Given the description of an element on the screen output the (x, y) to click on. 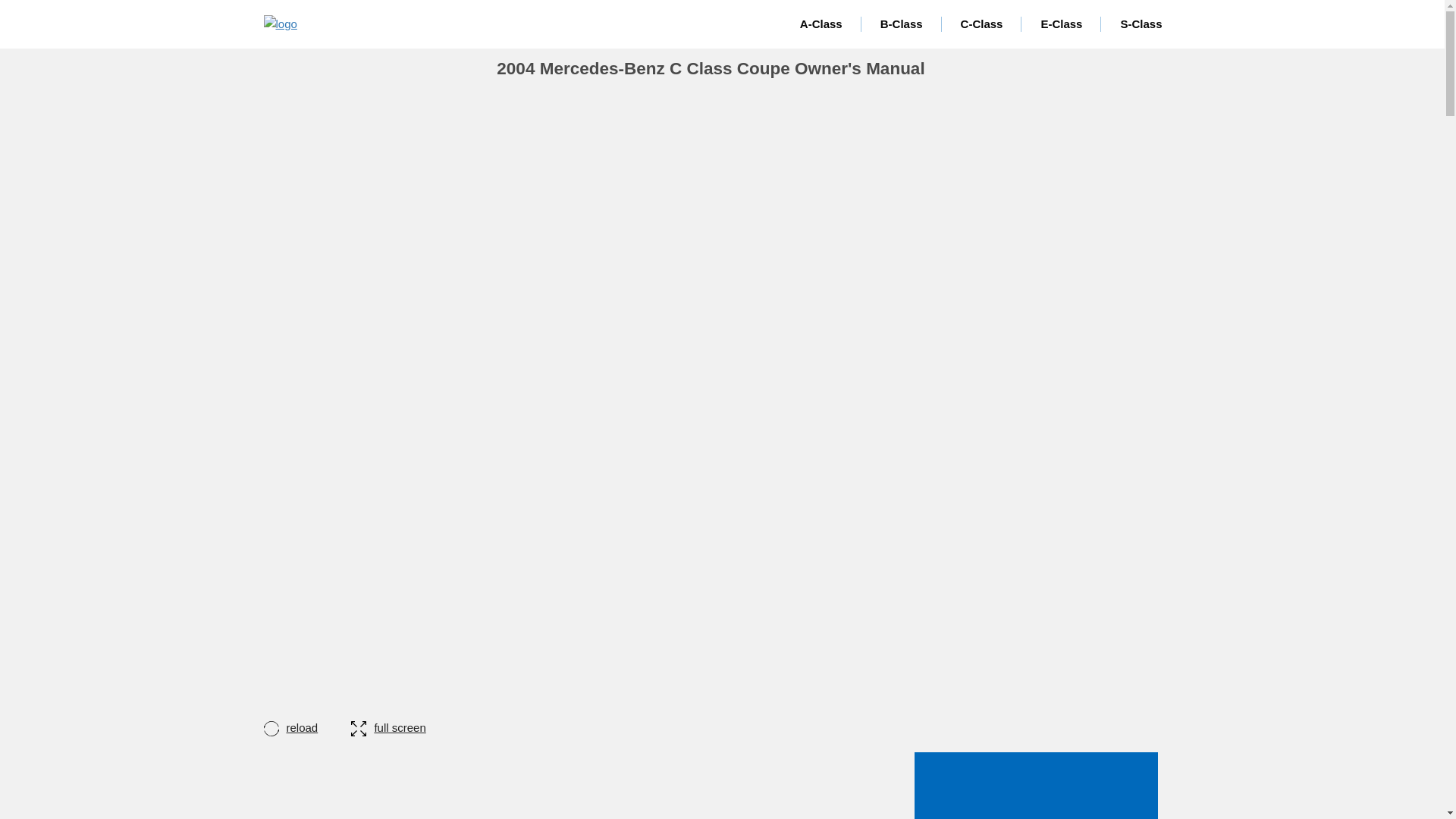
E-Class (1061, 24)
B-Class (901, 24)
reload (306, 727)
C-Class (981, 24)
full screen (387, 727)
S-Class (1140, 24)
A-Class (821, 24)
